Given the description of an element on the screen output the (x, y) to click on. 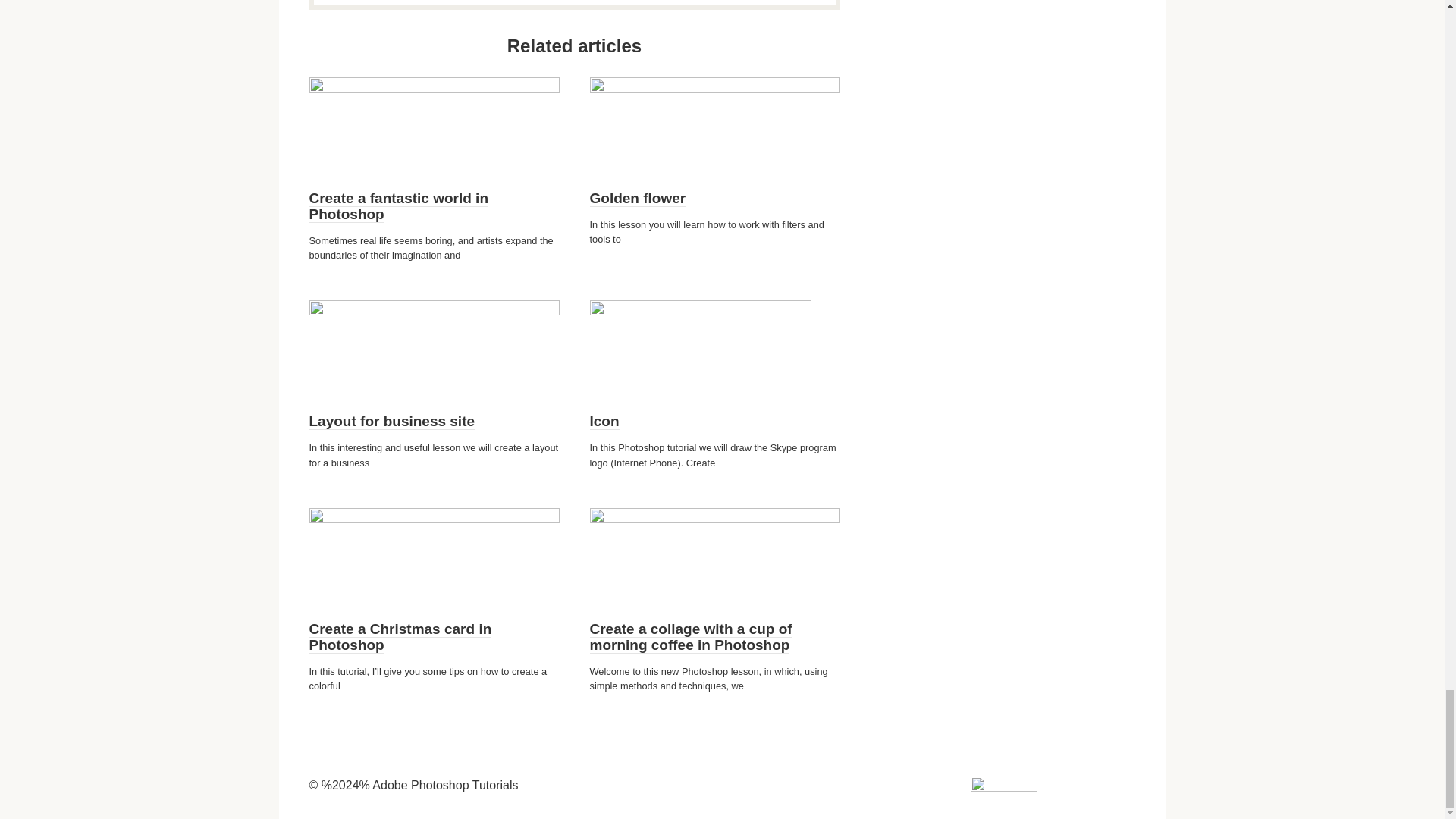
Create a Christmas card in Photoshop (400, 636)
Golden flower (637, 198)
Create a fantastic world in Photoshop (398, 206)
Layout for business site (392, 421)
Create a collage with a cup of morning coffee in Photoshop (690, 636)
Icon (604, 421)
